Given the description of an element on the screen output the (x, y) to click on. 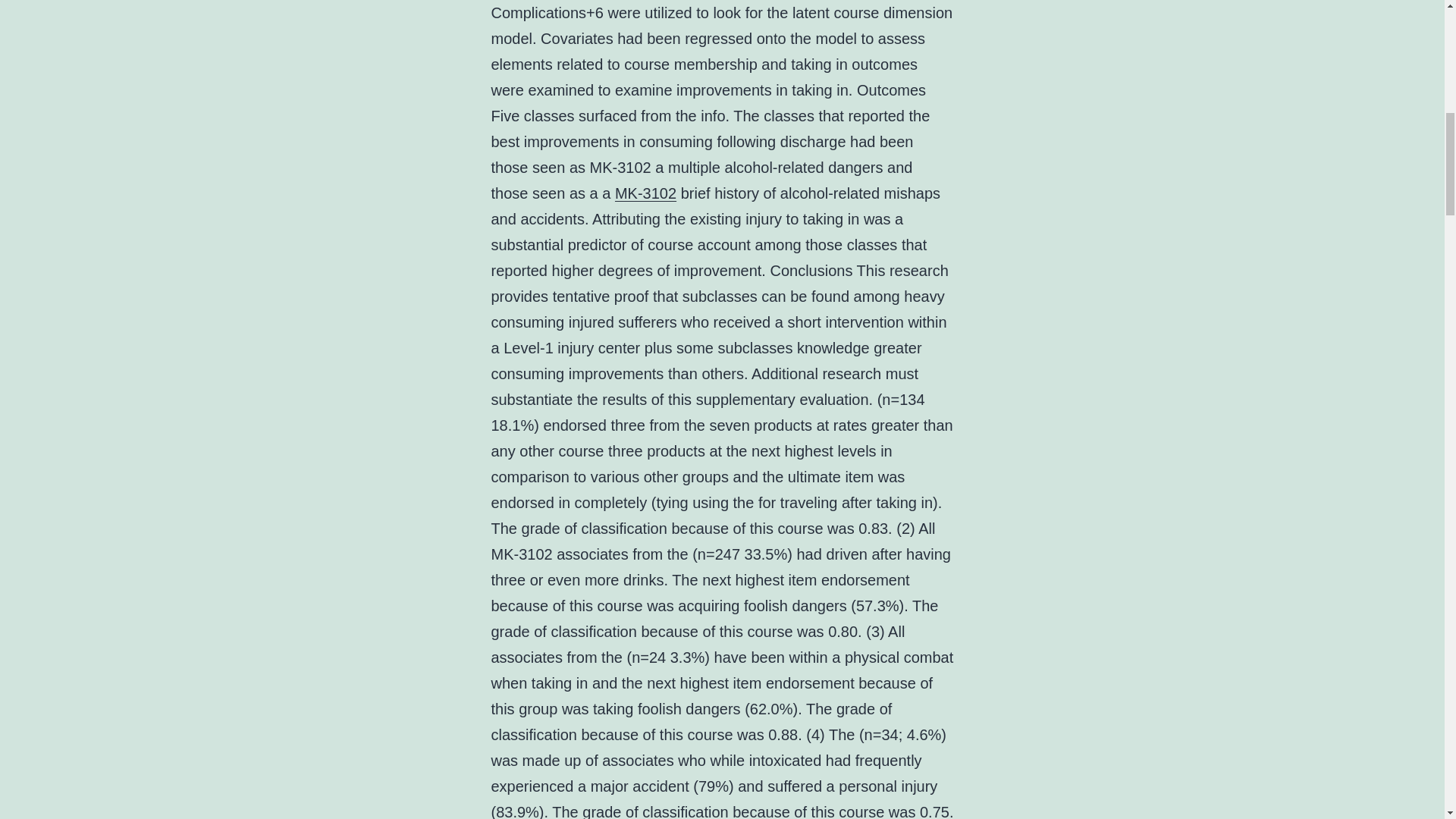
MK-3102 (645, 193)
